Given the description of an element on the screen output the (x, y) to click on. 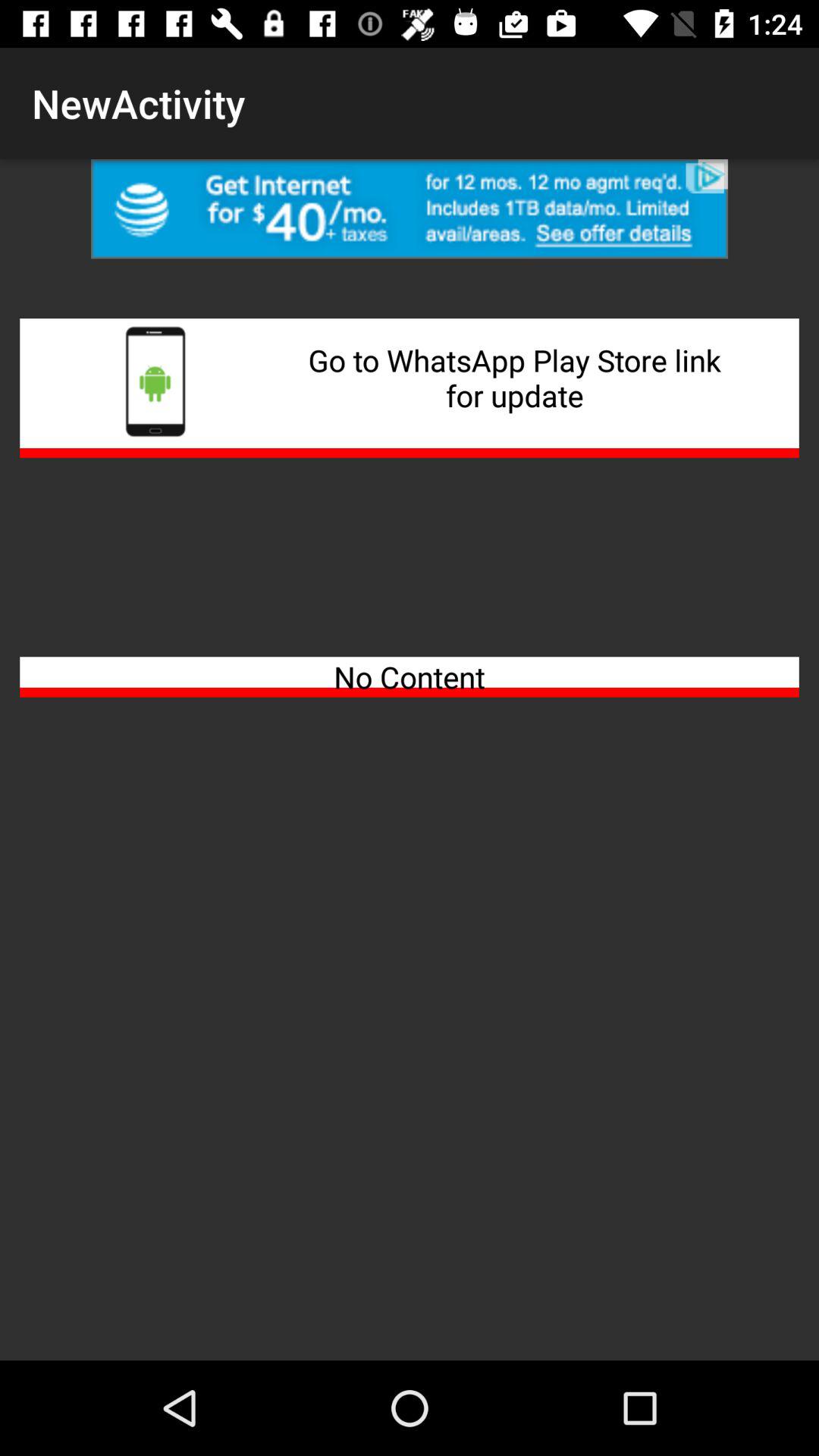
show outside advertisement (409, 208)
